Given the description of an element on the screen output the (x, y) to click on. 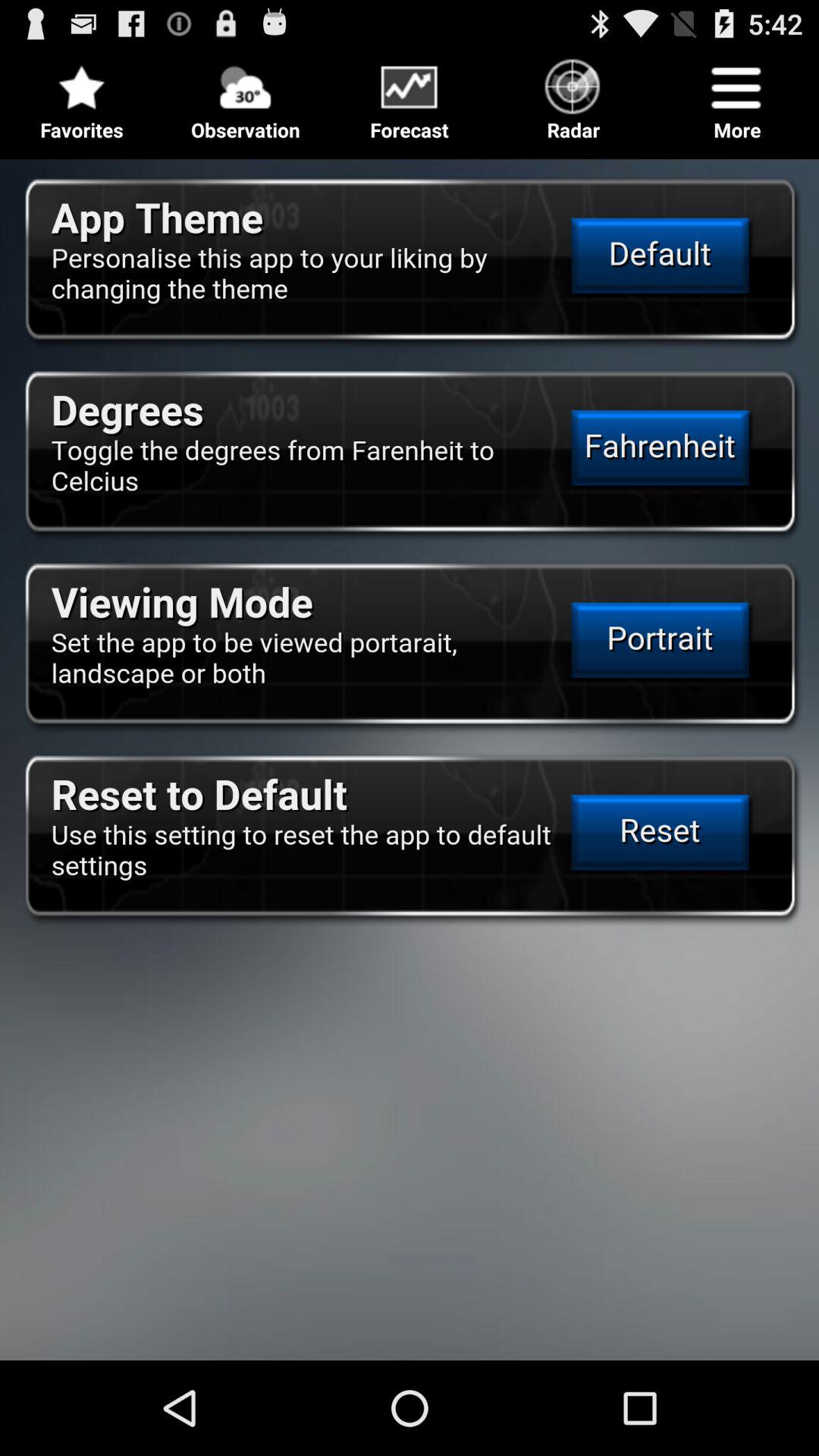
settings display field (409, 753)
